Given the description of an element on the screen output the (x, y) to click on. 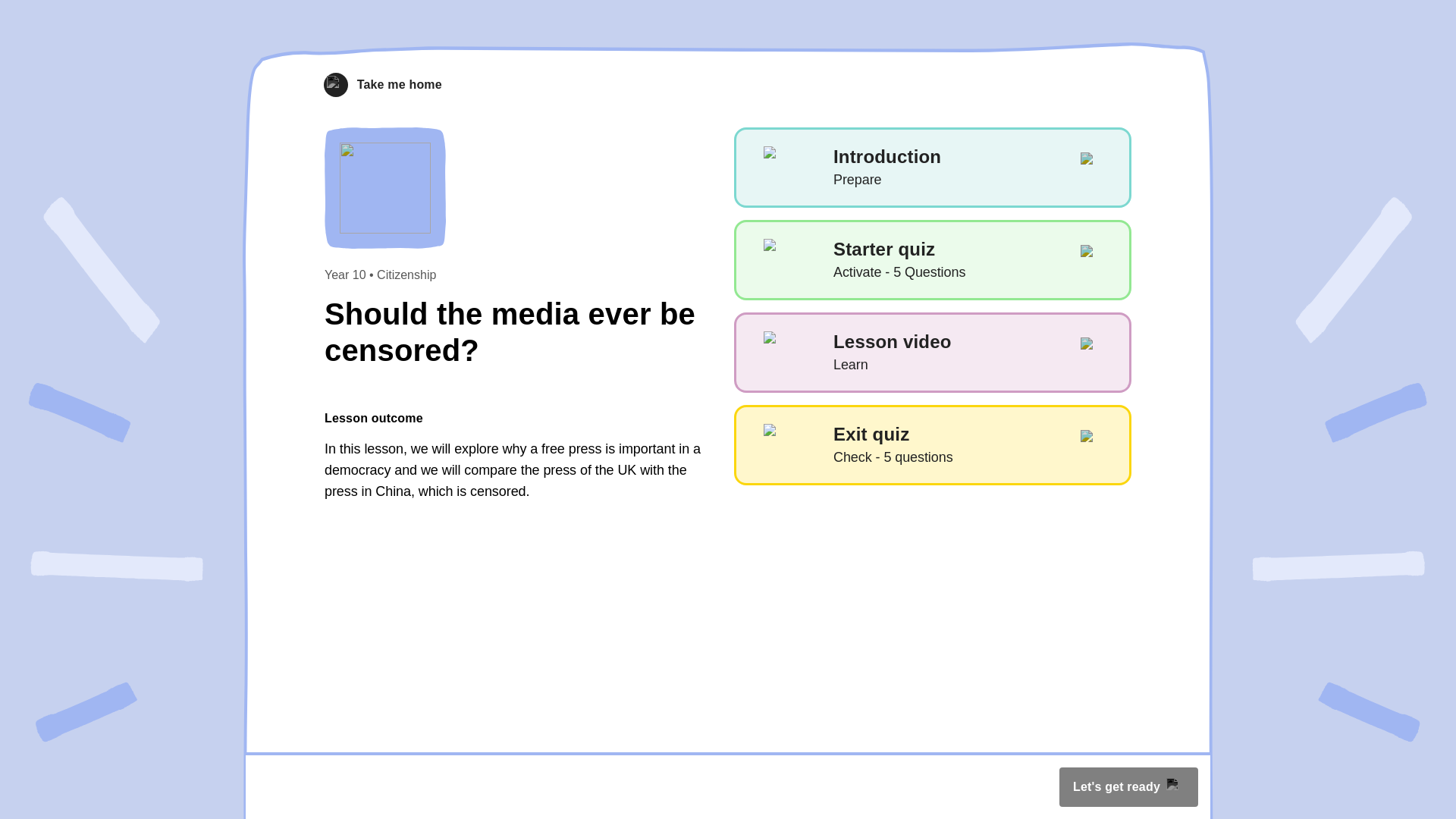
Take me home (932, 352)
Let's get ready (382, 84)
